Given the description of an element on the screen output the (x, y) to click on. 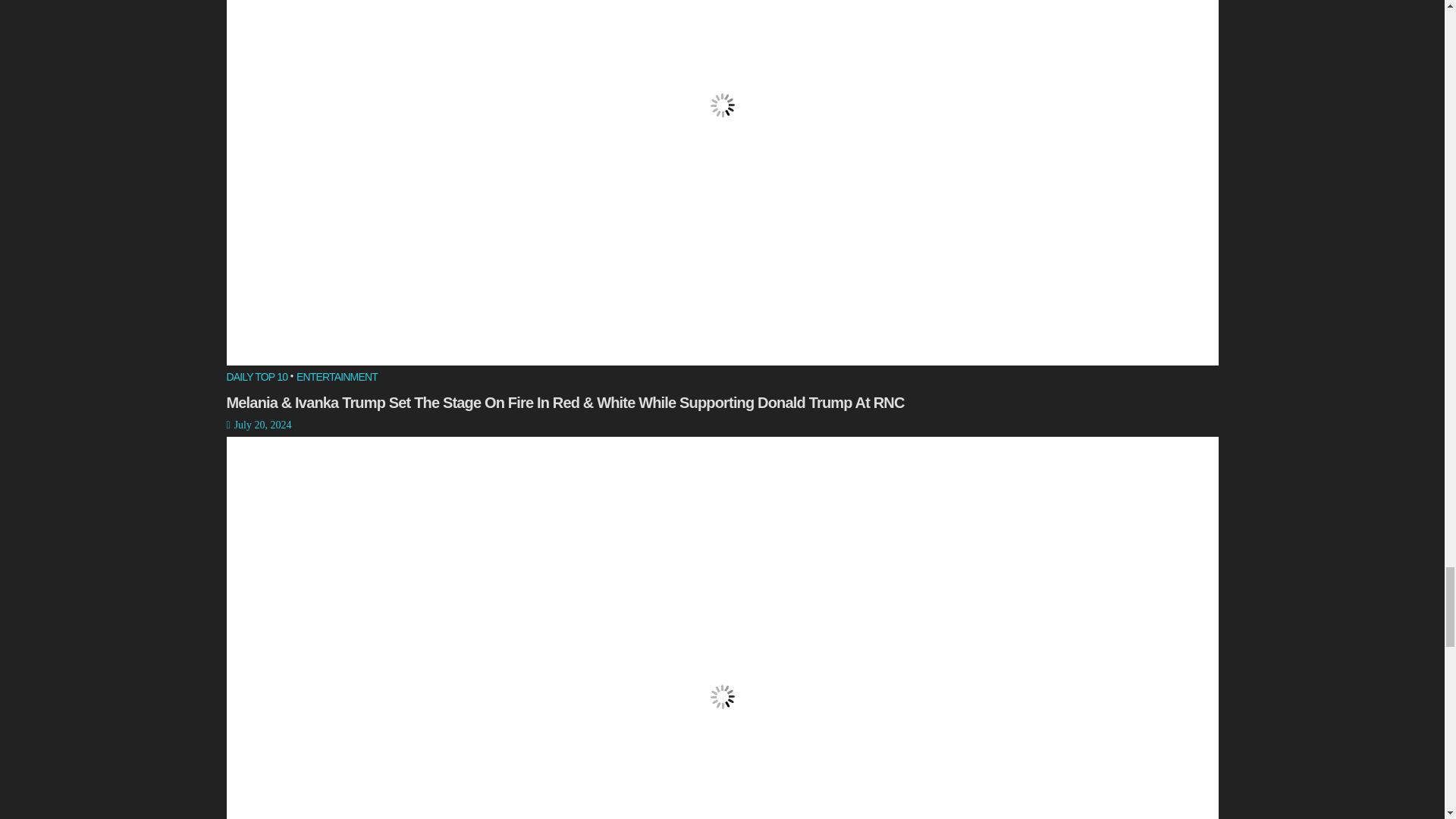
DAILY TOP 10 (255, 378)
ENTERTAINMENT (337, 378)
